Given the description of an element on the screen output the (x, y) to click on. 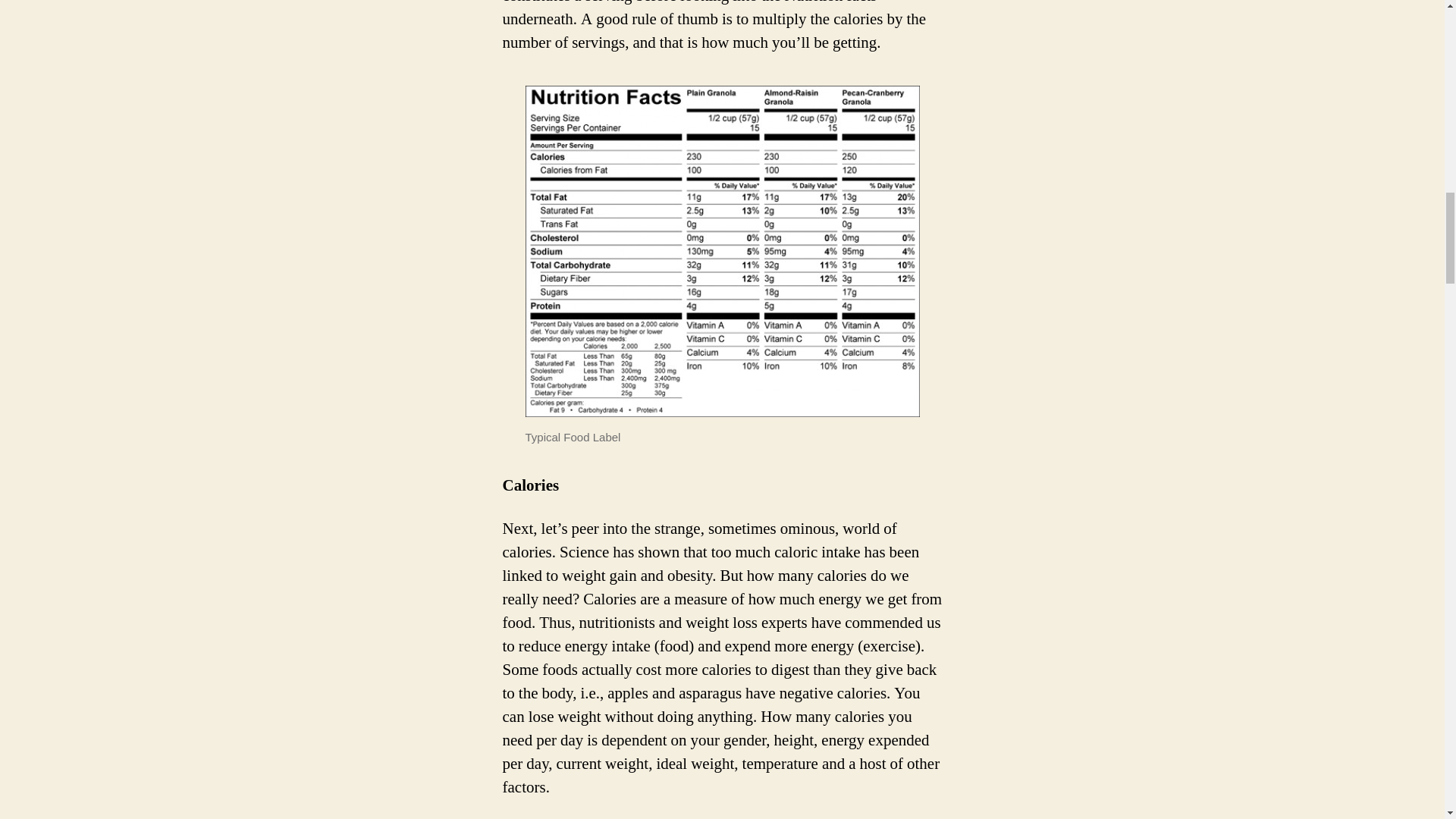
Typical Food Label (721, 250)
